Given the description of an element on the screen output the (x, y) to click on. 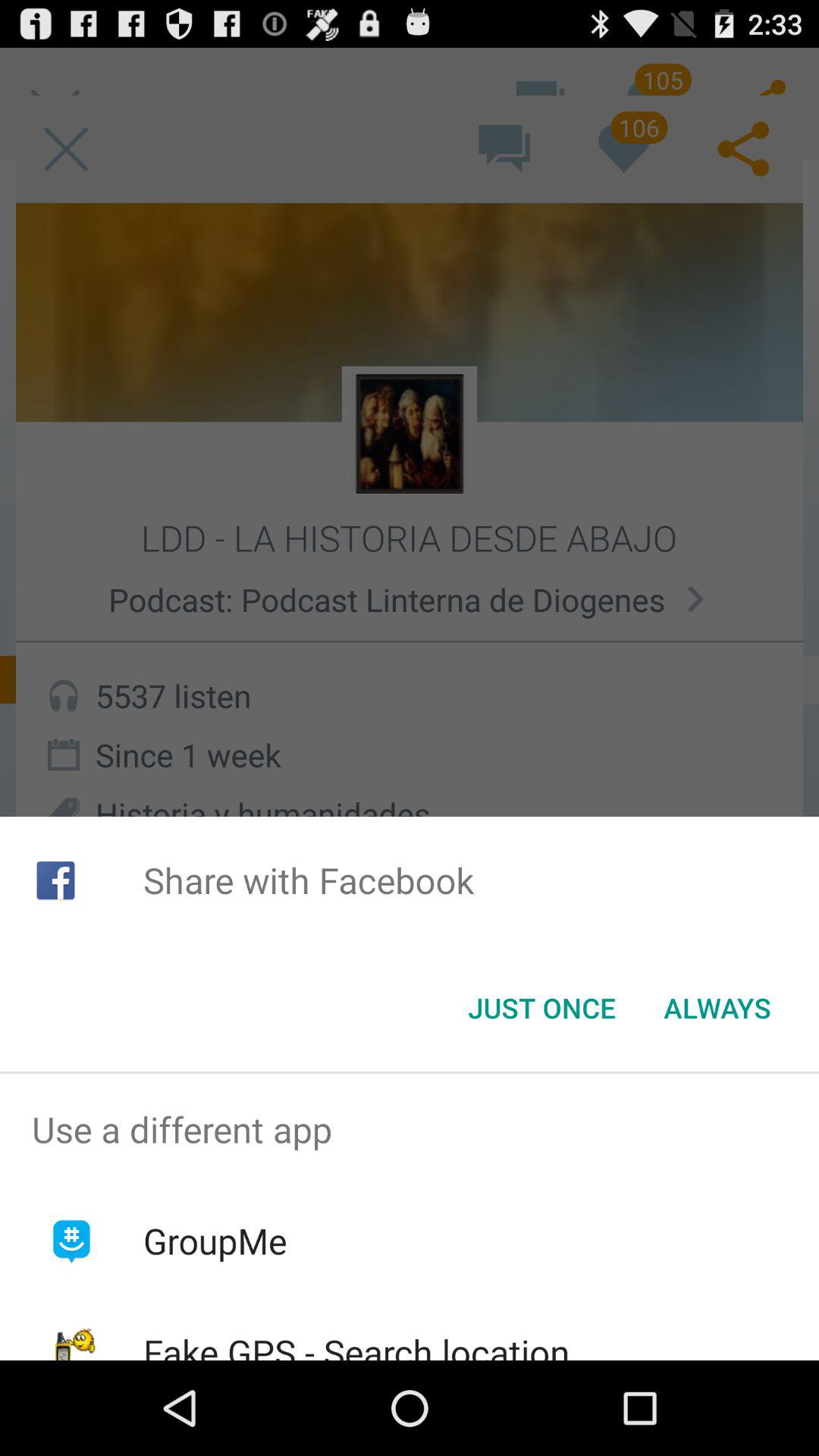
open fake gps search (356, 1344)
